Given the description of an element on the screen output the (x, y) to click on. 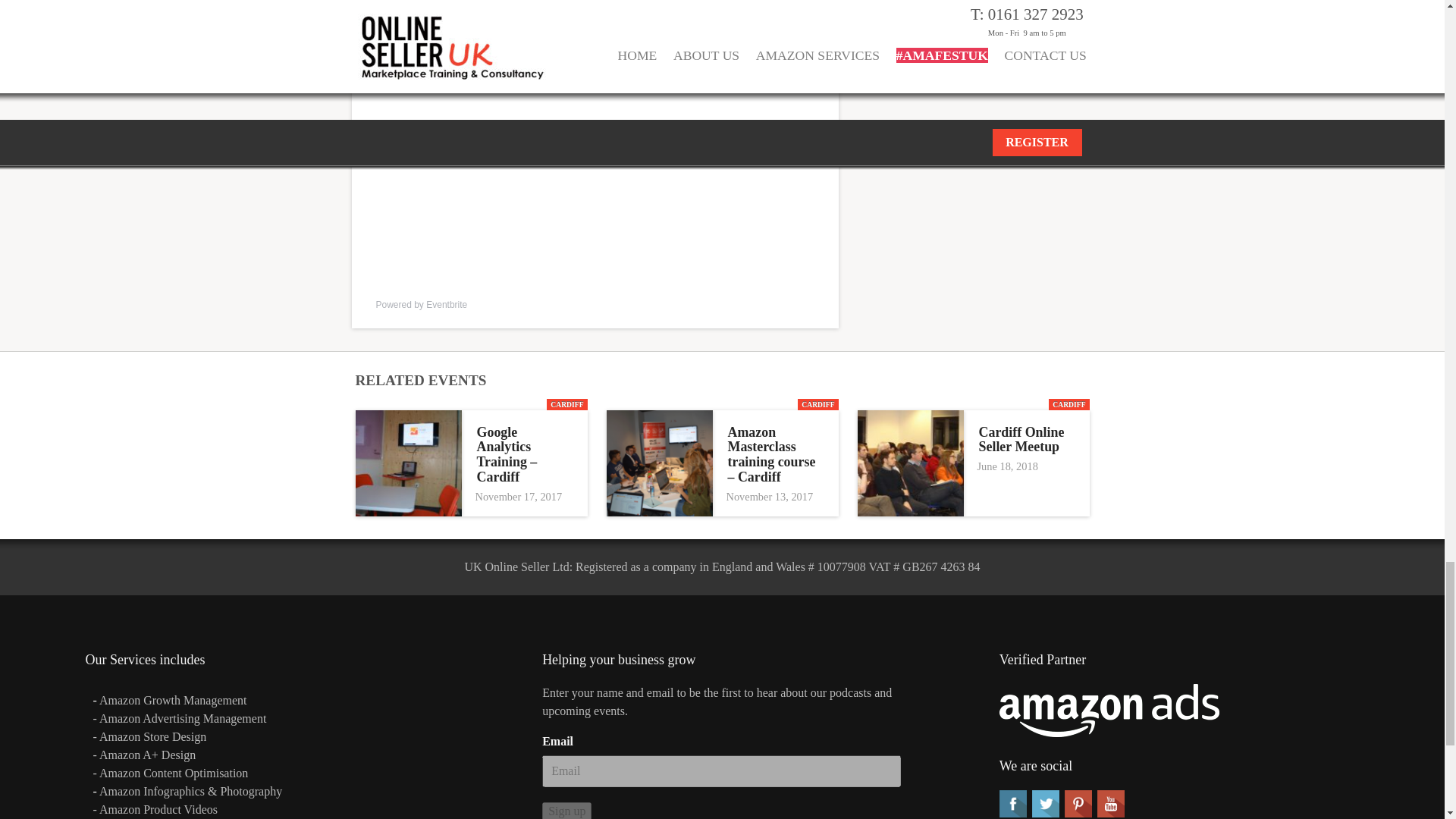
CARDIFF (817, 404)
- Amazon Product Videos  (157, 809)
- Amazon Store Design (149, 736)
Cardiff Online Seller Meetup (1026, 440)
Powered by Eventbrite (421, 304)
CARDIFF (1068, 404)
Amazon Growth Management (173, 699)
- Amazon Content Optimisation (170, 772)
CARDIFF (566, 404)
- Amazon Advertising Management (179, 717)
Cardiff Online Seller Meetup (1026, 440)
